Given the description of an element on the screen output the (x, y) to click on. 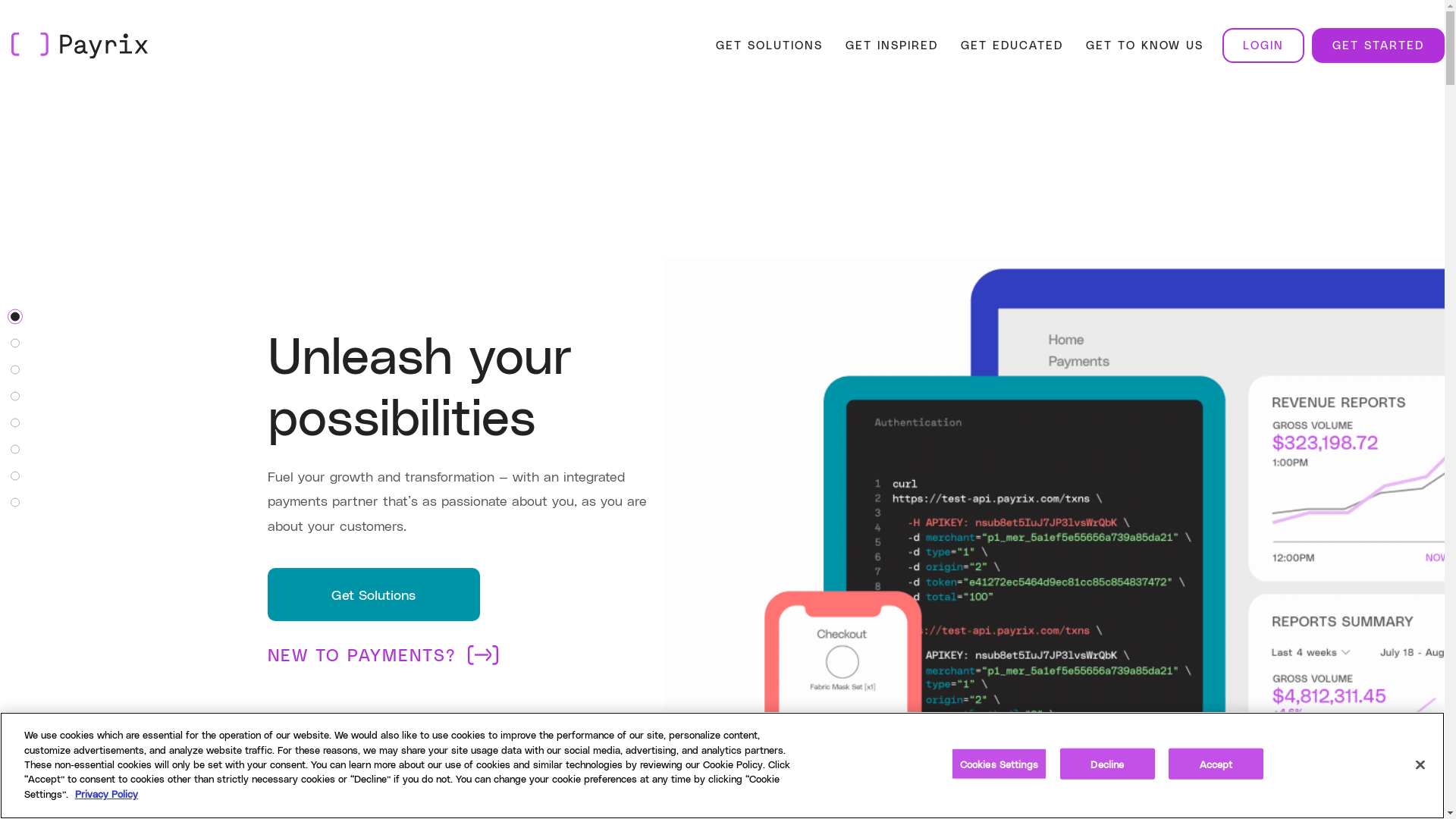
GET SOLUTIONS Element type: text (769, 44)
NEW TO PAYMENTS? Element type: text (381, 655)
GET INSPIRED Element type: text (891, 44)
Transformation Stories Element type: text (14, 448)
Get Solutions Element type: text (372, 594)
GET EDUCATED Element type: text (1011, 44)
Skip to Main Content Element type: text (15, 15)
The Latest Element type: text (14, 501)
Monetize Element type: text (14, 395)
Decline Element type: text (1107, 763)
Privacy Policy Element type: text (106, 793)
LOGIN Element type: text (1263, 44)
homepage Element type: hover (79, 44)
Accept Element type: text (1215, 763)
GET TO KNOW US Element type: text (1144, 44)
Payment Type Element type: text (14, 369)
Unleash your possibilities Element type: text (14, 316)
Personalized Solution Element type: text (14, 475)
Solutions Element type: text (14, 342)
GET STARTED Element type: text (1377, 44)
Embedded Payments Element type: text (14, 422)
Cookies Settings Element type: text (998, 763)
